Given the description of an element on the screen output the (x, y) to click on. 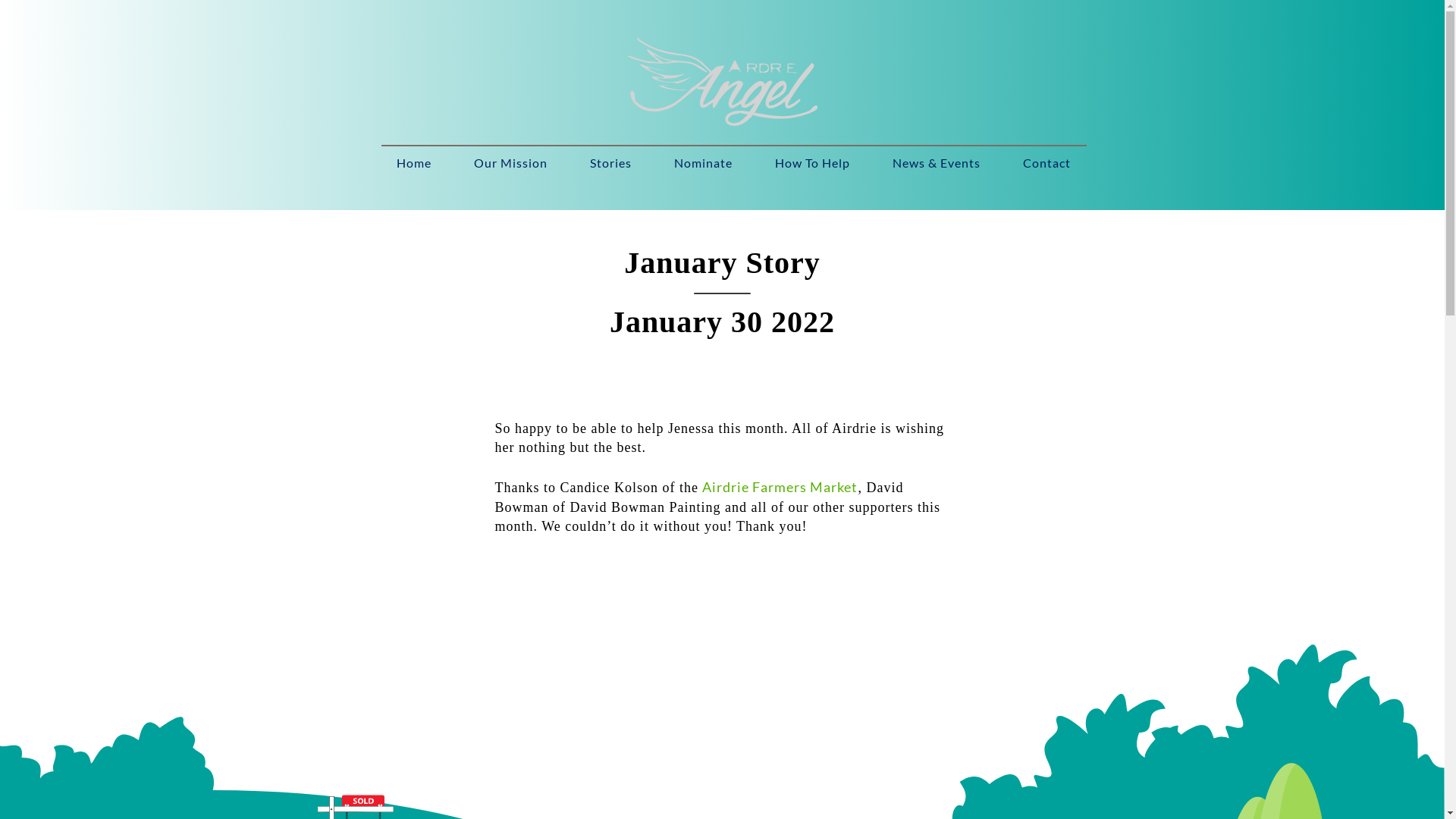
Stories Element type: text (610, 162)
Our Mission Element type: text (510, 162)
Home Element type: text (412, 162)
Nominate Element type: text (702, 162)
News & Events Element type: text (936, 162)
Airdrie Farmers Market Element type: text (779, 486)
How To Help Element type: text (812, 162)
Contact Element type: text (1046, 162)
